Given the description of an element on the screen output the (x, y) to click on. 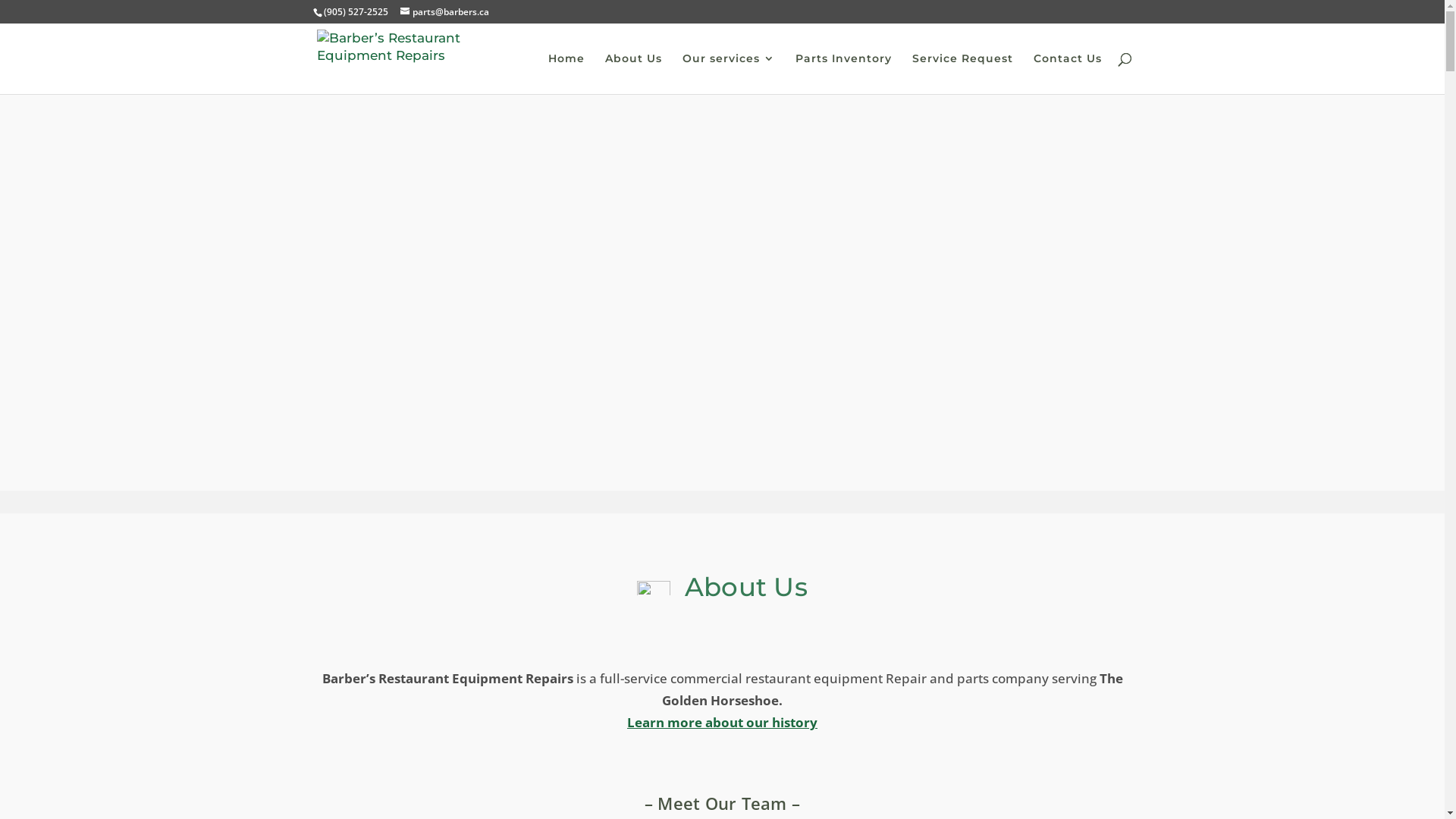
About Us Element type: text (633, 73)
Contact Us Element type: text (1066, 73)
Our services Element type: text (728, 73)
Home Element type: text (565, 73)
Learn more about our history Element type: text (722, 722)
parts@barbers.ca Element type: text (444, 11)
Service Request Element type: text (961, 73)
Parts Inventory Element type: text (842, 73)
